Given the description of an element on the screen output the (x, y) to click on. 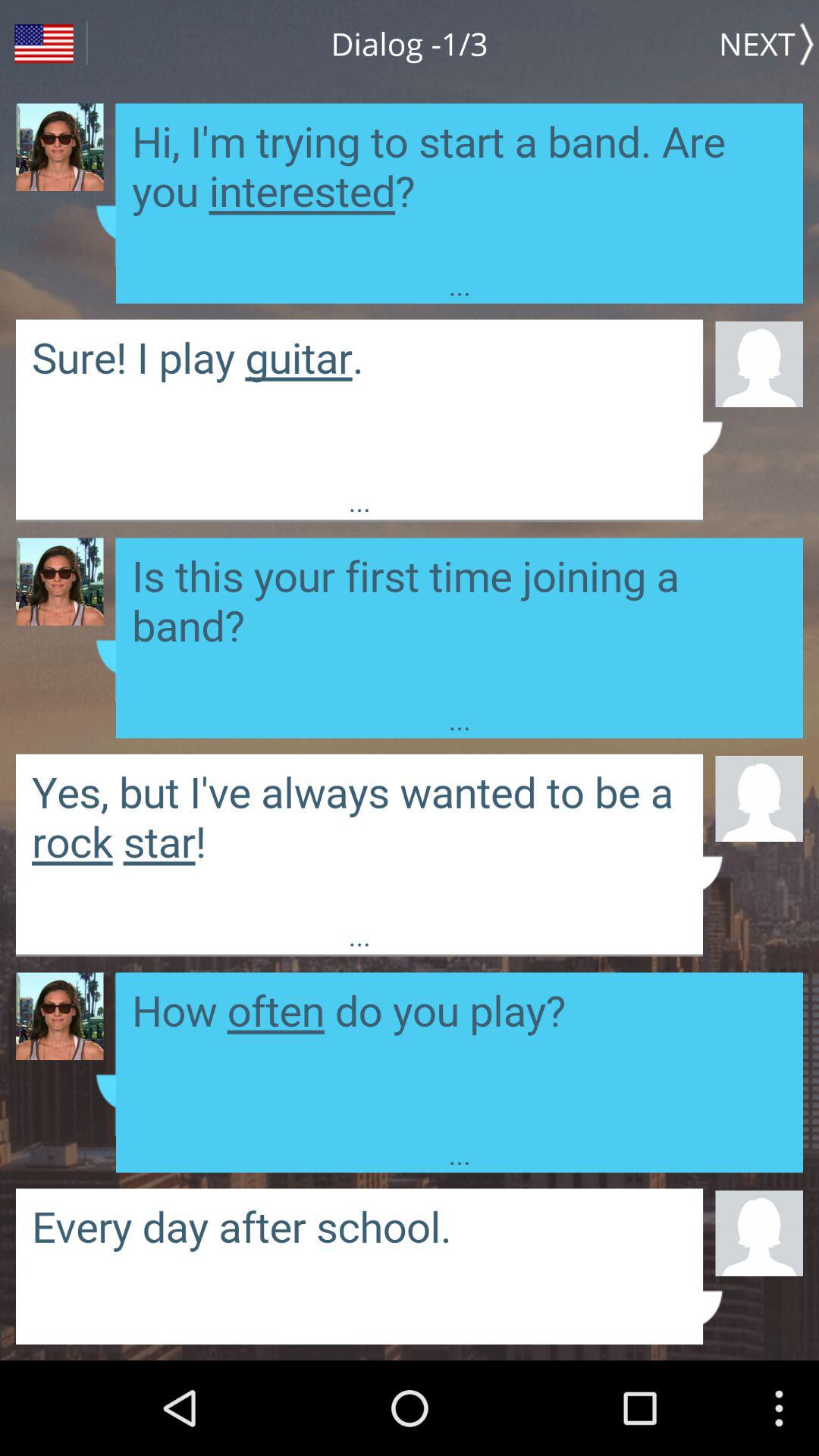
choose the app below the ... (759, 363)
